Given the description of an element on the screen output the (x, y) to click on. 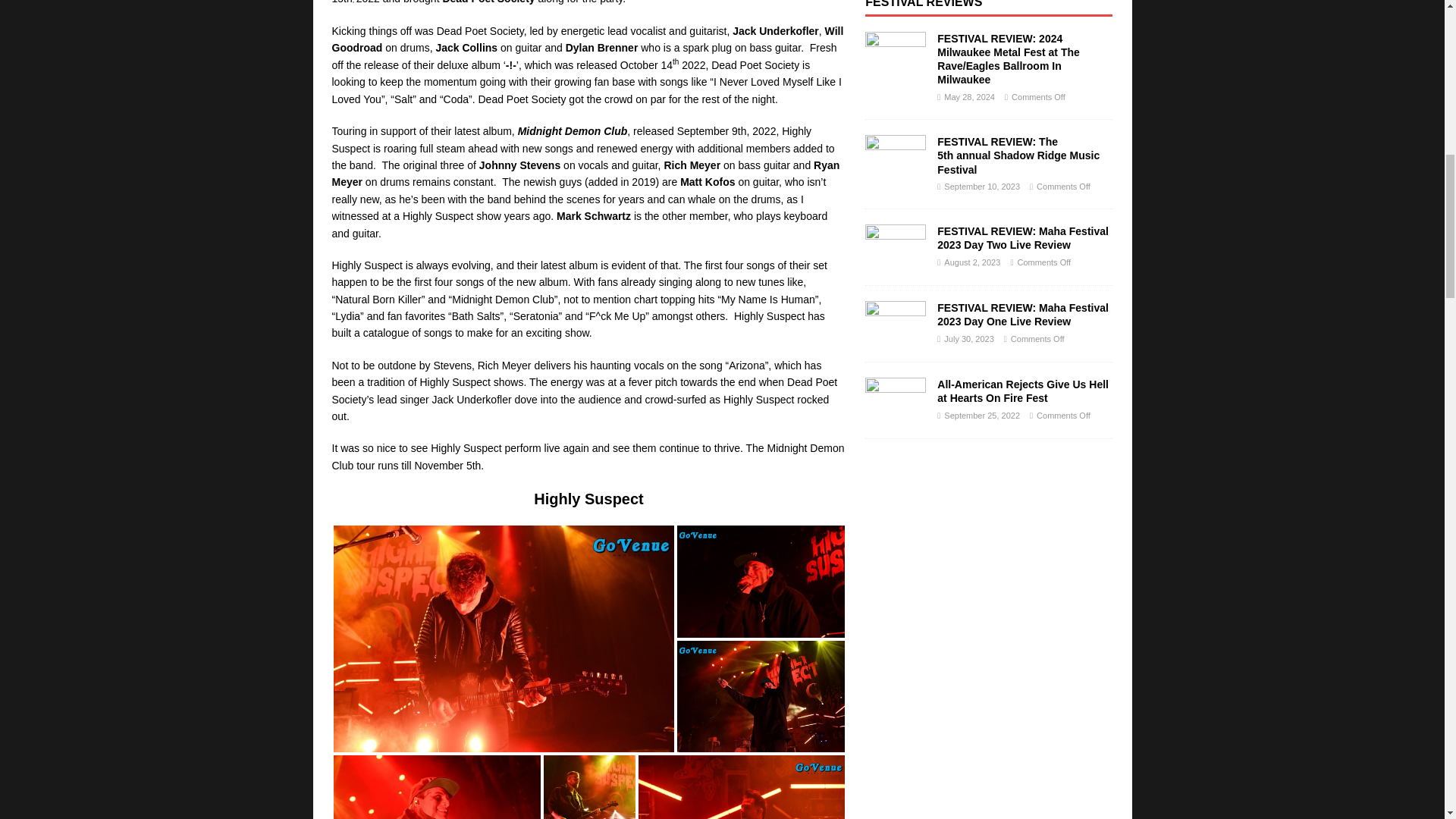
Highly-Suspect-1-Fillmore-10-15-22 (760, 581)
Highly-Suspect-6-Fillmore-10-15-22 (760, 696)
Highly-Suspect-4-Fillmore-10-15-22 (503, 638)
